Given the description of an element on the screen output the (x, y) to click on. 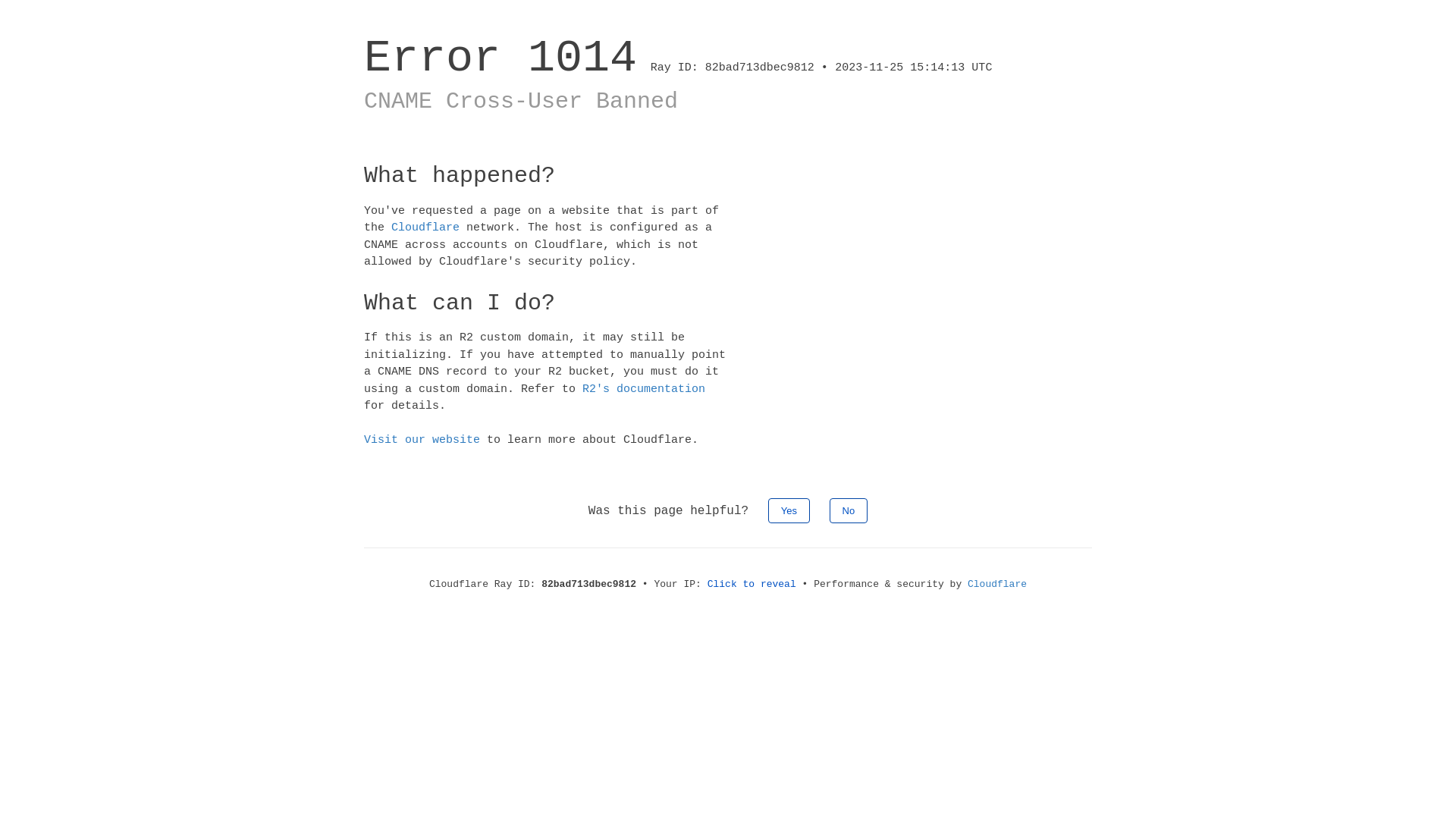
Cloudflare Element type: text (425, 227)
Yes Element type: text (788, 509)
No Element type: text (848, 509)
Cloudflare Element type: text (996, 583)
Click to reveal Element type: text (751, 583)
Visit our website Element type: text (422, 439)
R2's documentation Element type: text (643, 388)
